Given the description of an element on the screen output the (x, y) to click on. 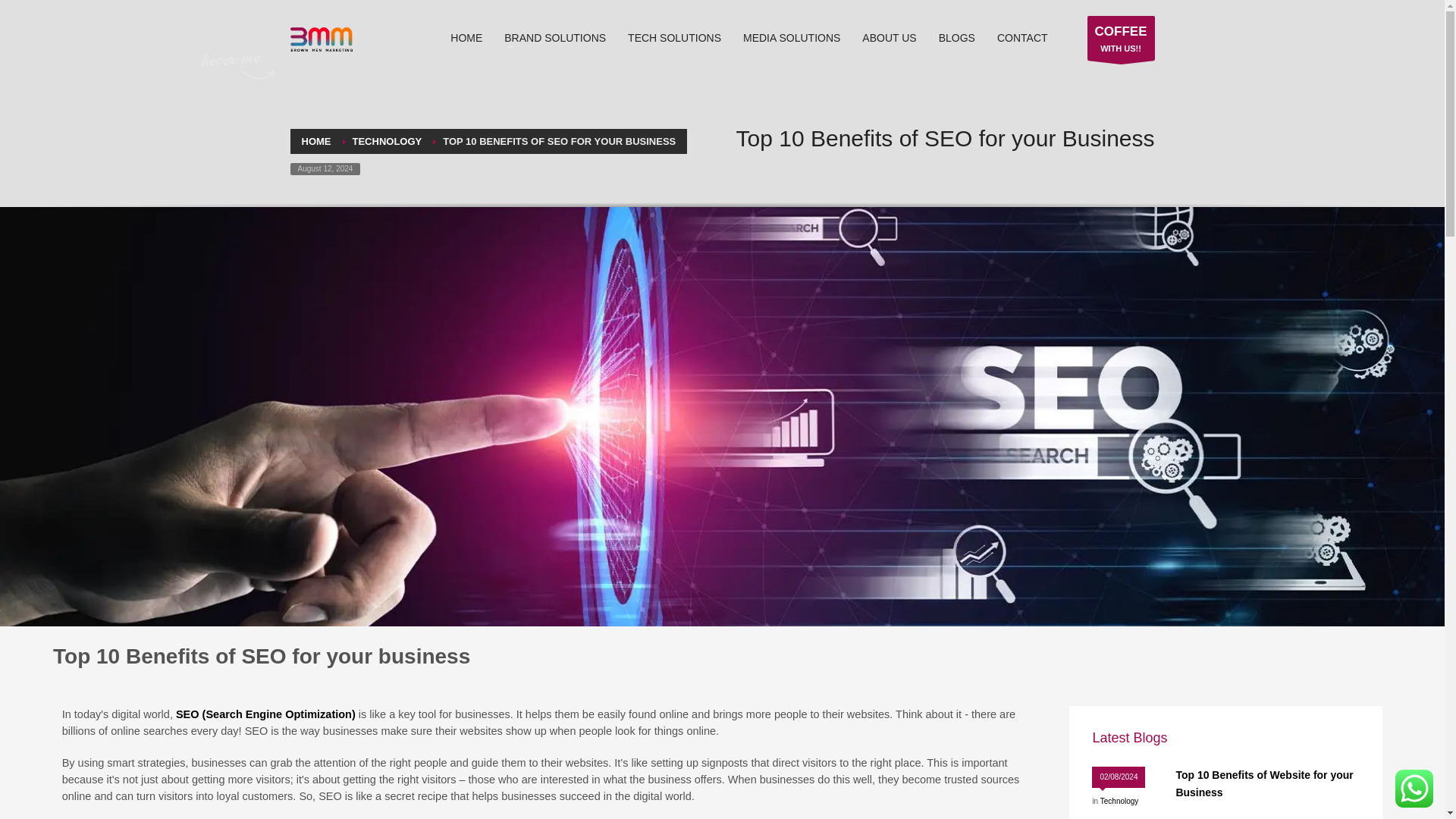
HOME (466, 37)
MEDIA SOLUTIONS (790, 37)
ABOUT US (888, 37)
BRAND SOLUTIONS (554, 37)
TECH SOLUTIONS (674, 37)
